Given the description of an element on the screen output the (x, y) to click on. 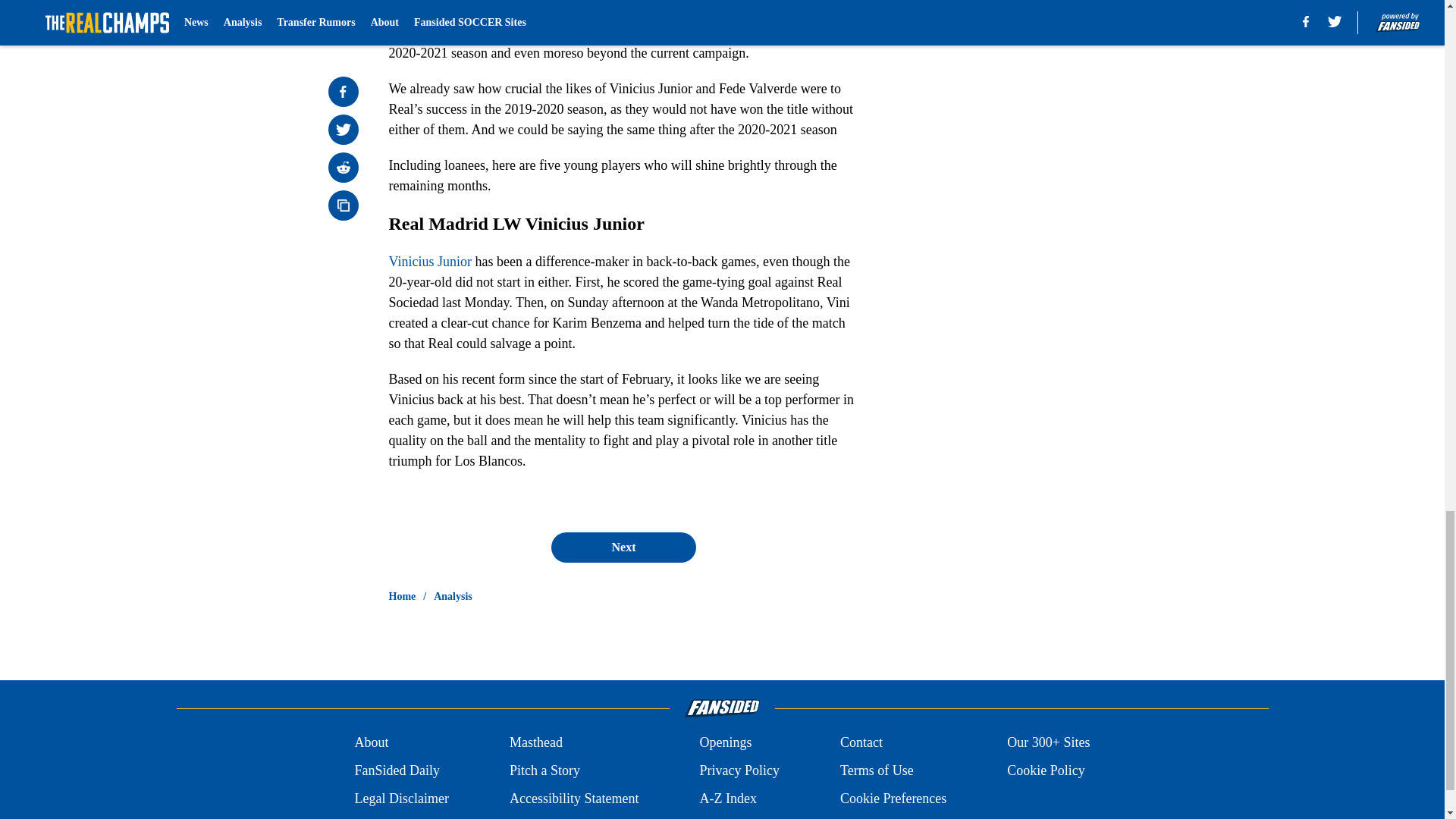
FanSided Daily (396, 770)
A-Z Index (726, 798)
Cookie Policy (1045, 770)
Contact (861, 742)
Legal Disclaimer (400, 798)
Real Madrid (602, 22)
Masthead (535, 742)
Openings (724, 742)
Terms of Use (877, 770)
Analysis (452, 596)
Privacy Policy (738, 770)
Cookie Preferences (893, 798)
About (370, 742)
Accessibility Statement (574, 798)
Next (622, 547)
